Given the description of an element on the screen output the (x, y) to click on. 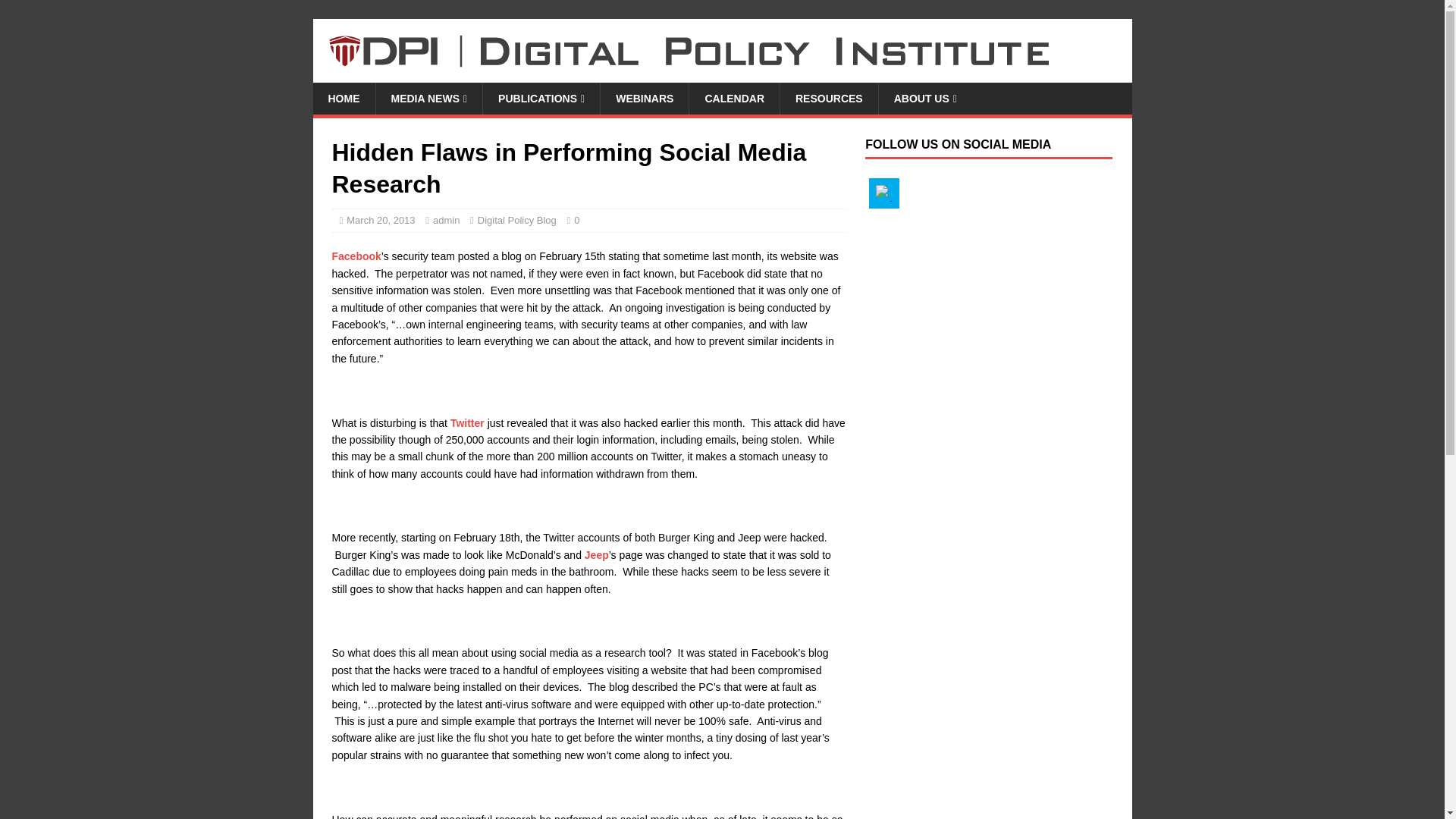
Digital Policy Blog (516, 220)
ABOUT US (924, 98)
March 20, 2013 (380, 220)
WEBINARS (643, 98)
HOME (343, 98)
Twitter (466, 422)
MEDIA NEWS (427, 98)
RESOURCES (827, 98)
Jeep (596, 554)
CALENDAR (733, 98)
Twitter (884, 193)
admin (446, 220)
PUBLICATIONS (540, 98)
Facebook (356, 256)
